Given the description of an element on the screen output the (x, y) to click on. 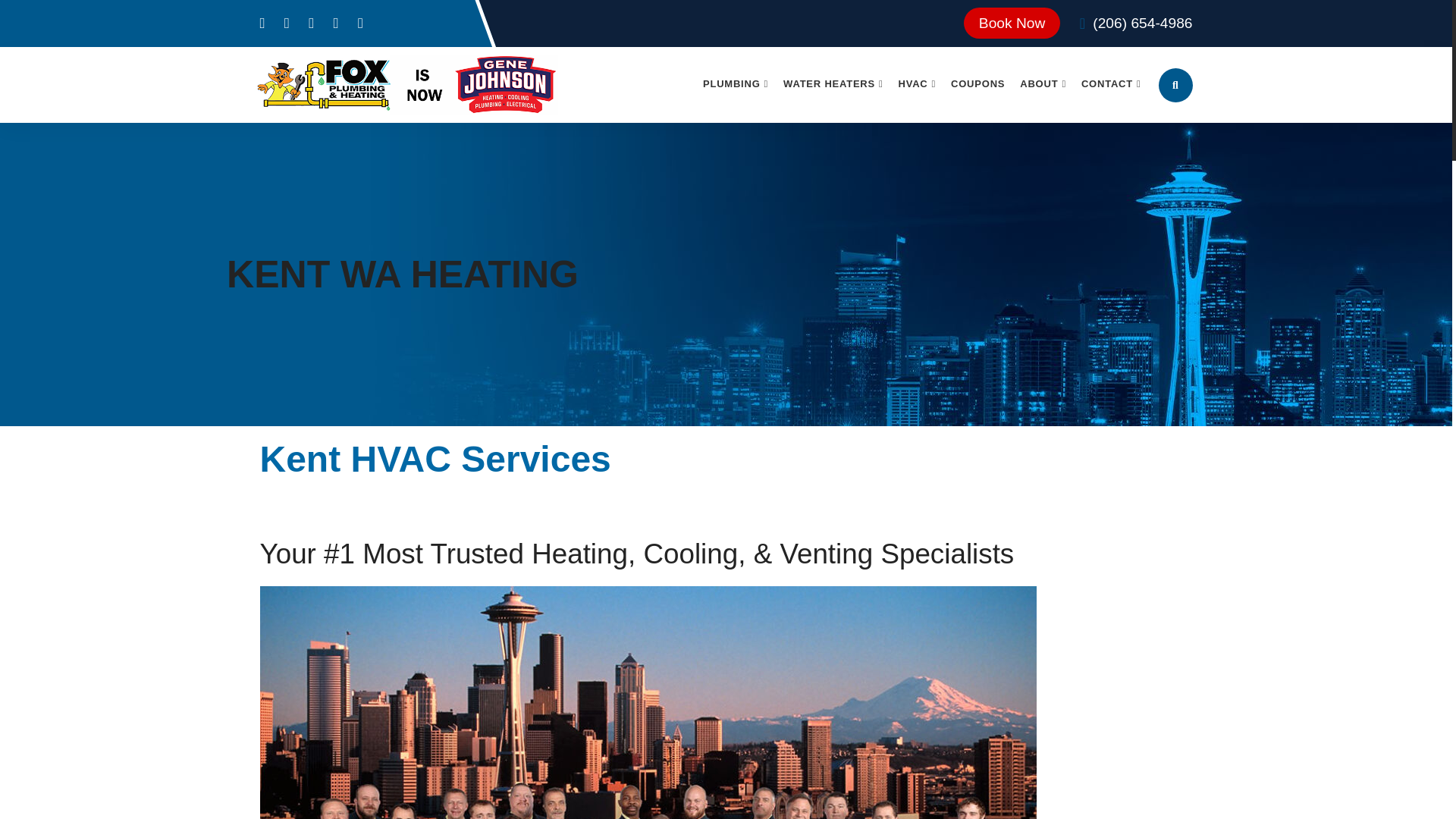
WATER HEATERS (832, 83)
Book Now (1011, 22)
Call us today! (1142, 23)
Click to search (1175, 84)
PLUMBING (735, 83)
Plumbing (735, 83)
